Given the description of an element on the screen output the (x, y) to click on. 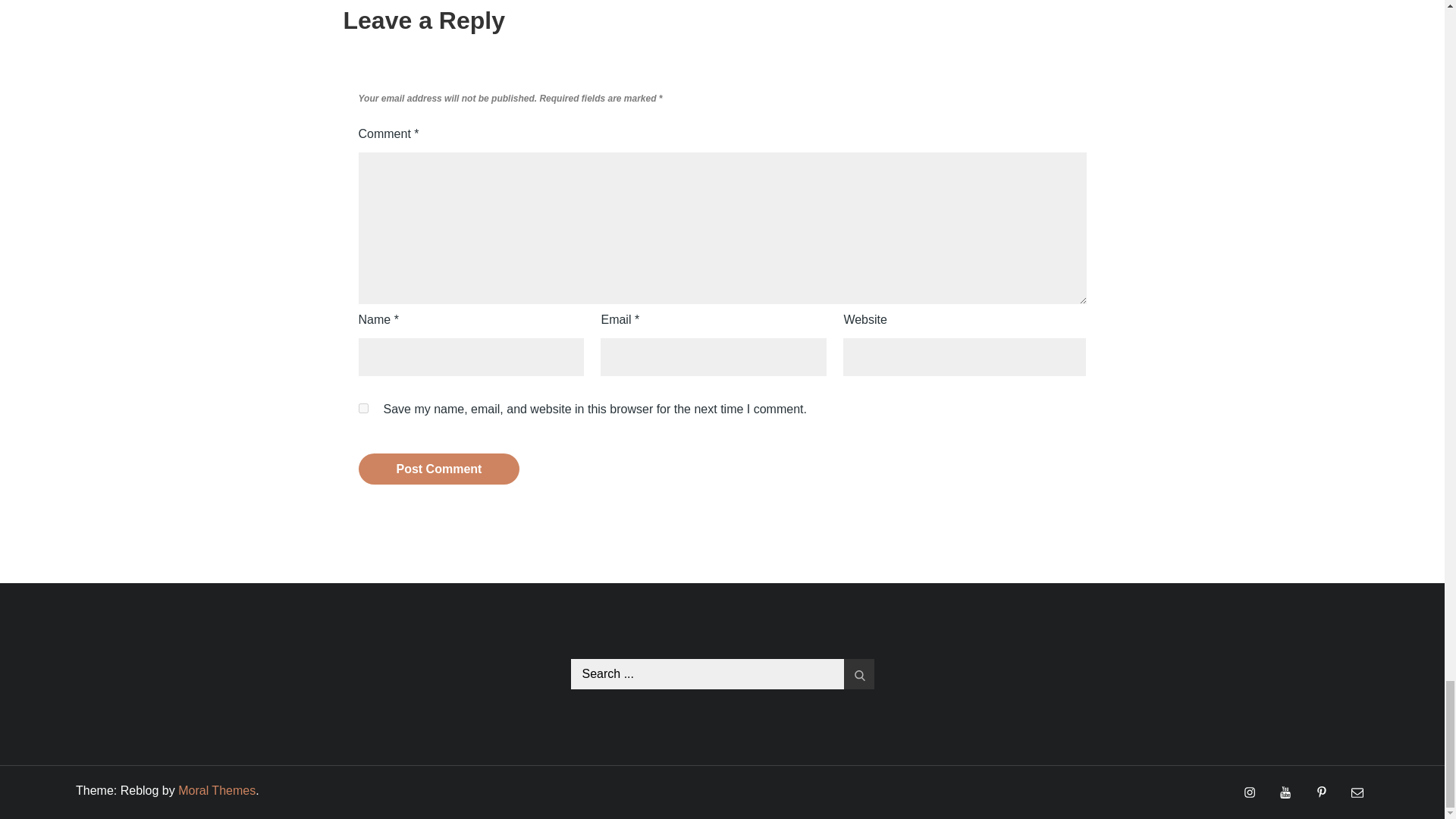
Post Comment (438, 468)
yes (363, 408)
Search for: (721, 674)
